Given the description of an element on the screen output the (x, y) to click on. 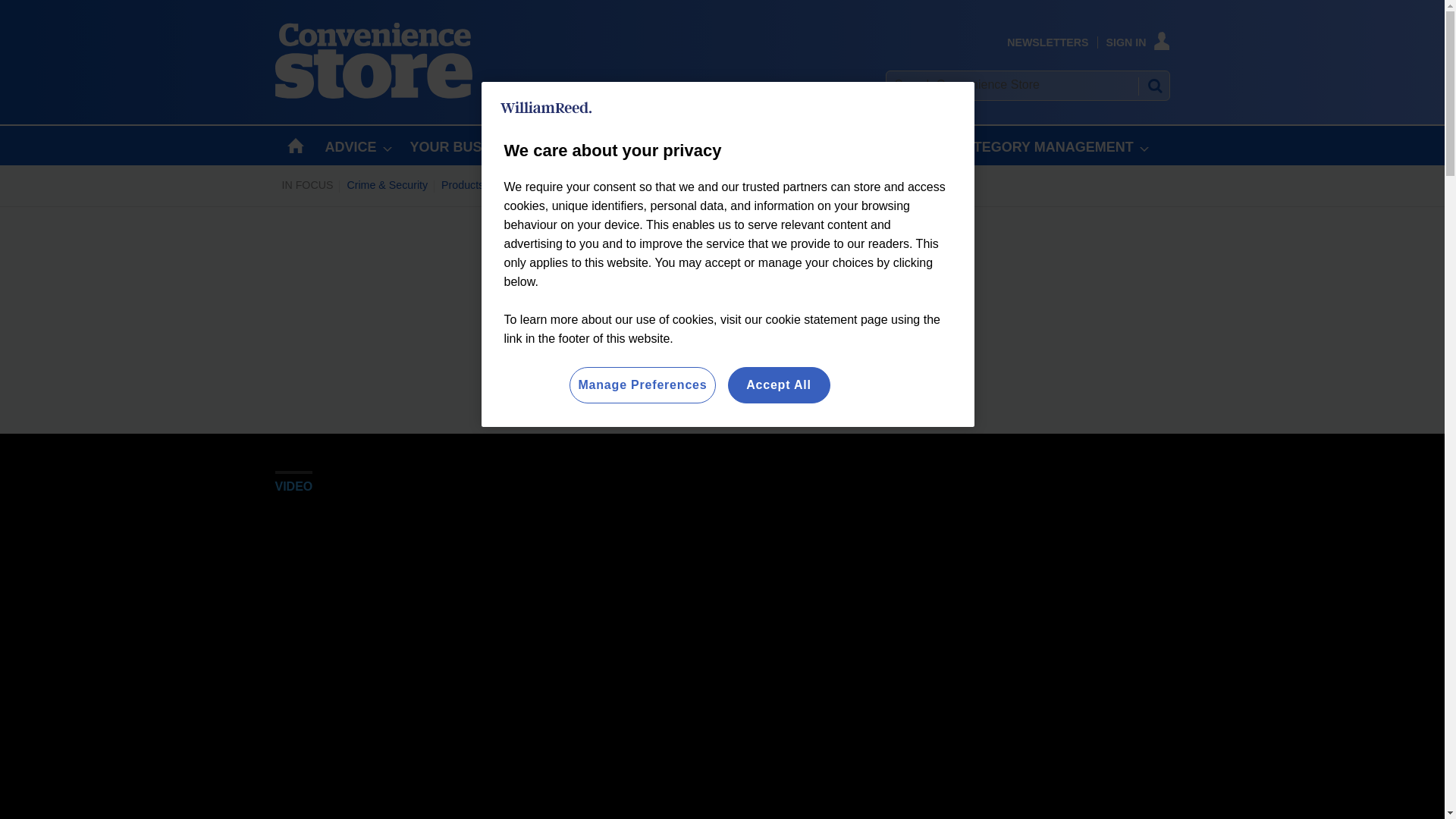
SIGN IN (1138, 42)
Category Management (701, 184)
Products in Depth (483, 184)
NEWSLETTERS (1047, 42)
SEARCH (1153, 85)
Convenience Store Vision (831, 184)
Post Office Horizon (587, 184)
Site name (373, 93)
William Reed (545, 107)
